Given the description of an element on the screen output the (x, y) to click on. 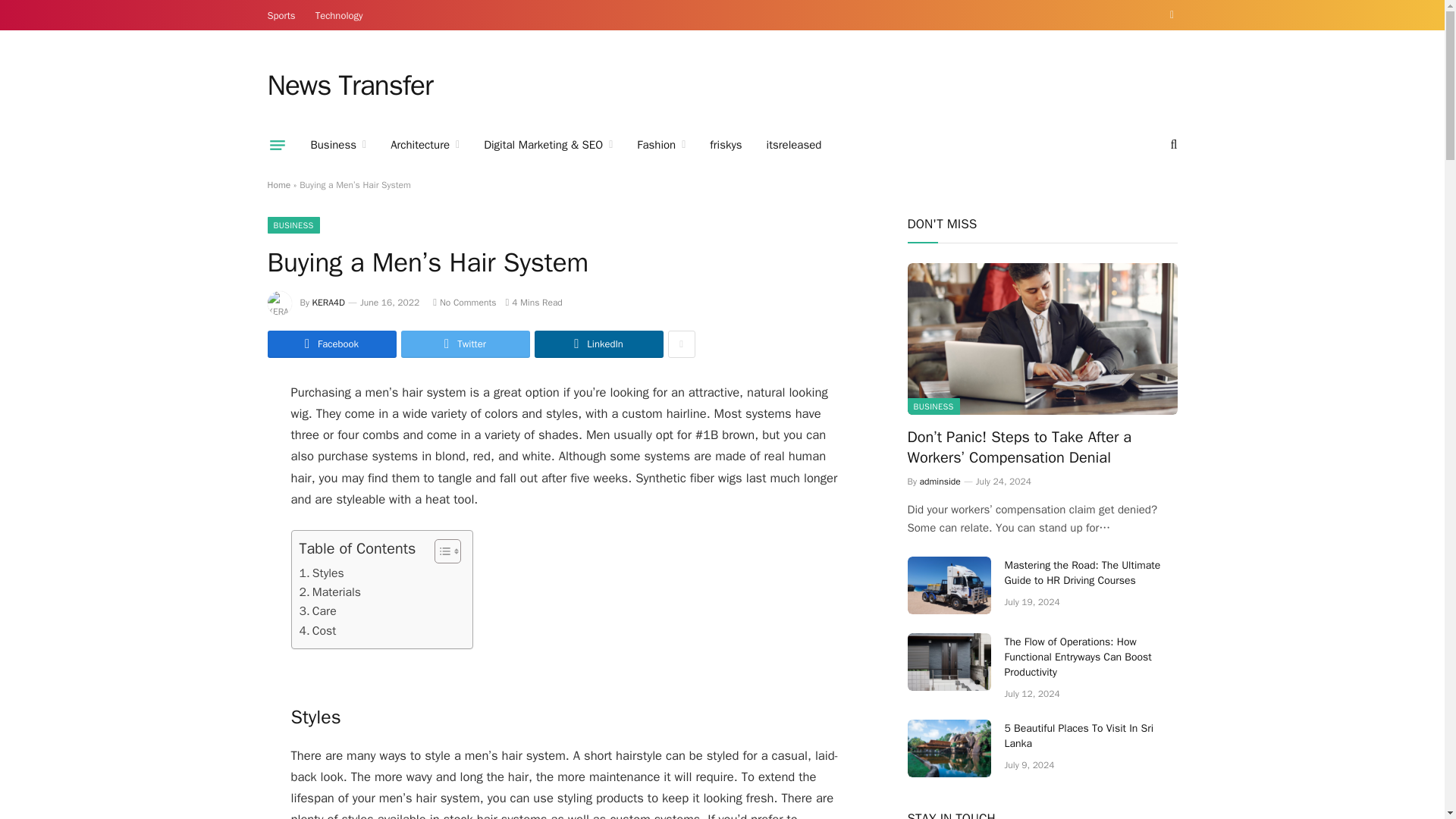
Posts by KERA4D (329, 302)
Share on Facebook (331, 343)
Sports (281, 15)
News Transfer (349, 85)
Switch to Dark Design - easier on eyes. (1169, 14)
Share on LinkedIn (598, 343)
News Transfer (349, 85)
Business (338, 144)
Technology (338, 15)
